Given the description of an element on the screen output the (x, y) to click on. 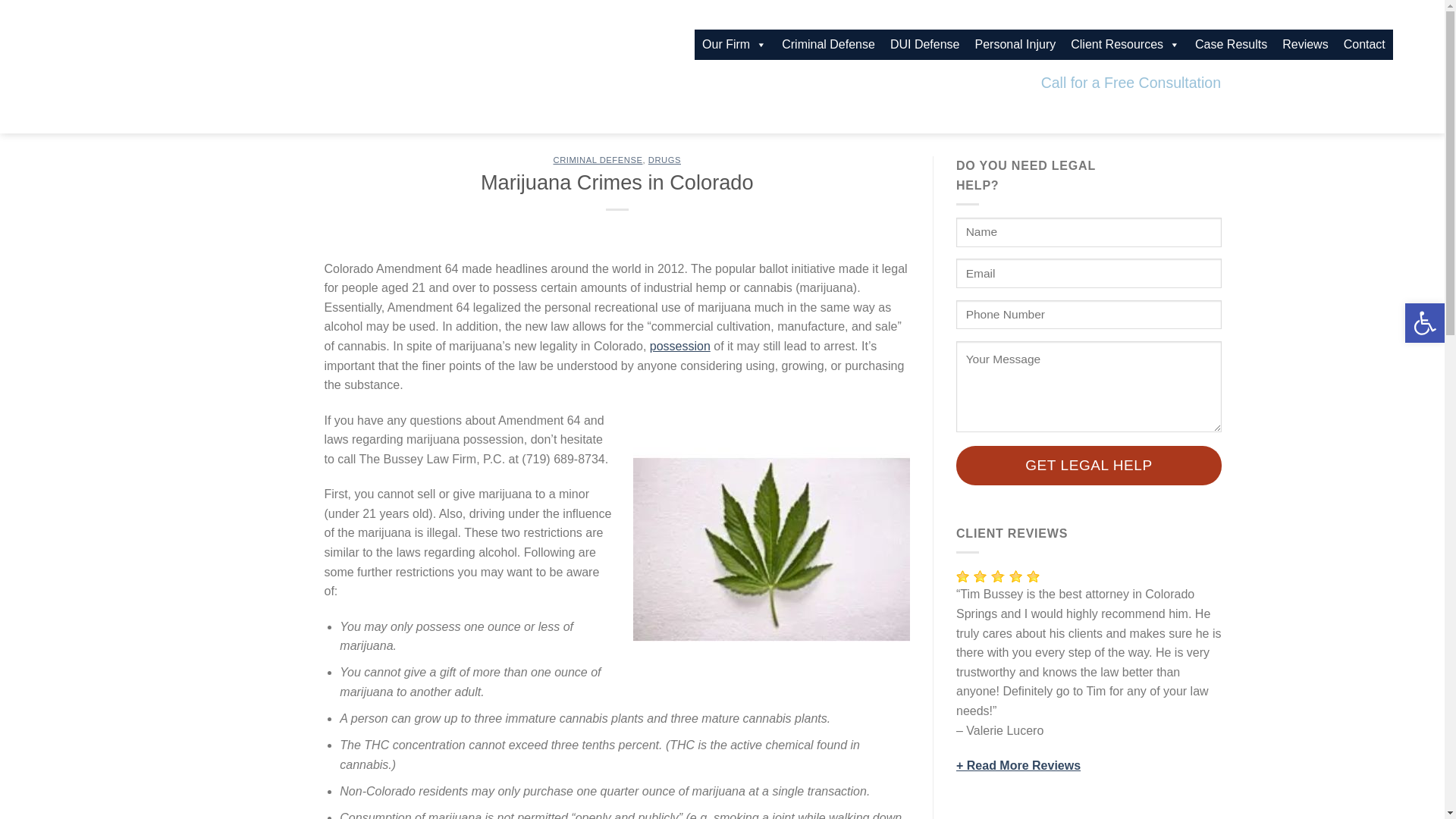
Contact (1364, 44)
CRIMINAL DEFENSE (598, 159)
DUI Defense (925, 44)
Our Firm (734, 44)
Accessibility Tools (1424, 322)
Criminal Defense (828, 44)
Call for a Free Consultation (1131, 83)
DRUGS (664, 159)
possession (679, 345)
Get Legal Help (1088, 465)
Reviews (1305, 44)
Case Results (1231, 44)
Client Resources (1125, 44)
Personal Injury (1016, 44)
